Given the description of an element on the screen output the (x, y) to click on. 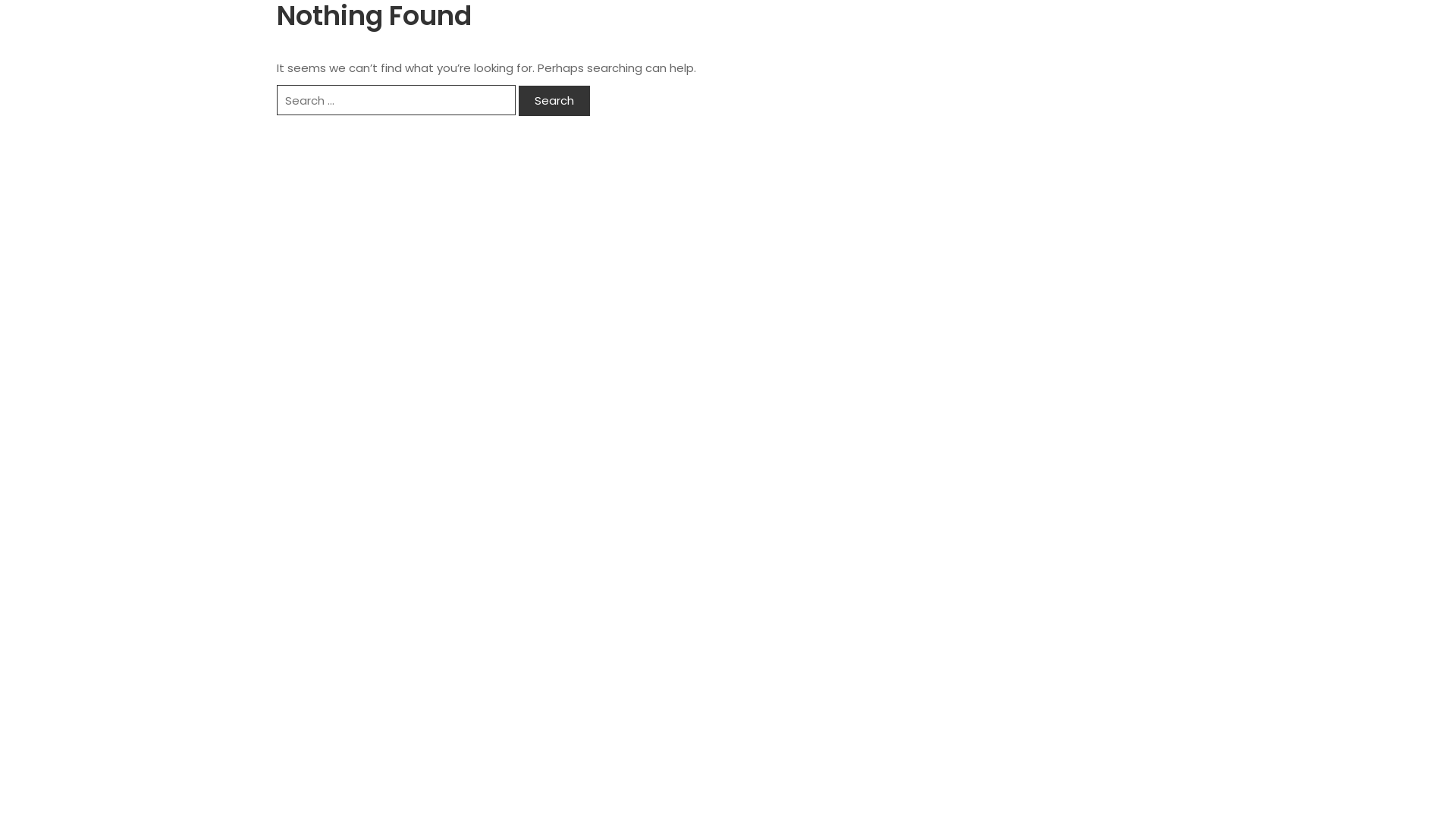
Search Element type: text (553, 99)
